Given the description of an element on the screen output the (x, y) to click on. 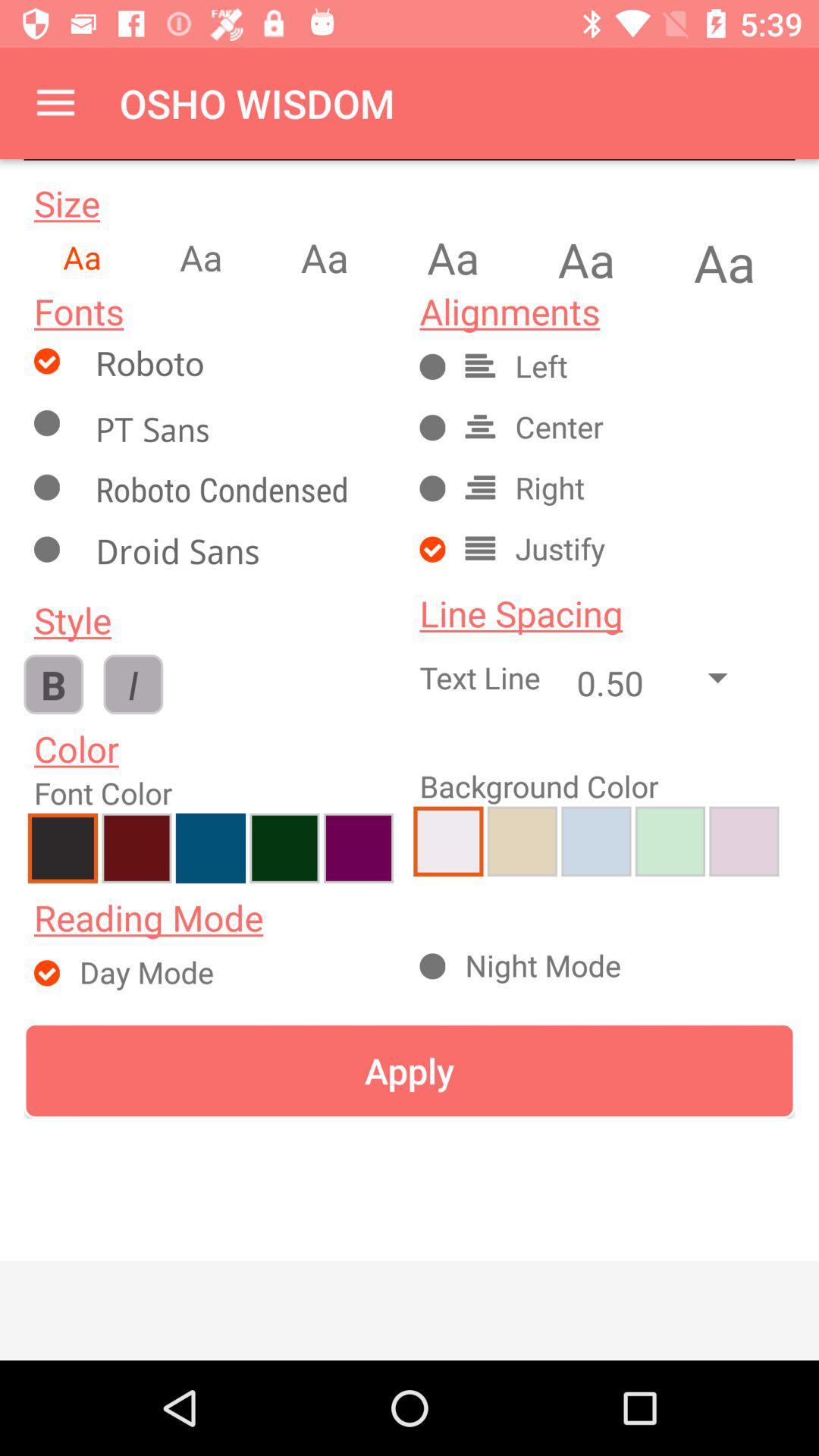
choose background color (596, 841)
